Given the description of an element on the screen output the (x, y) to click on. 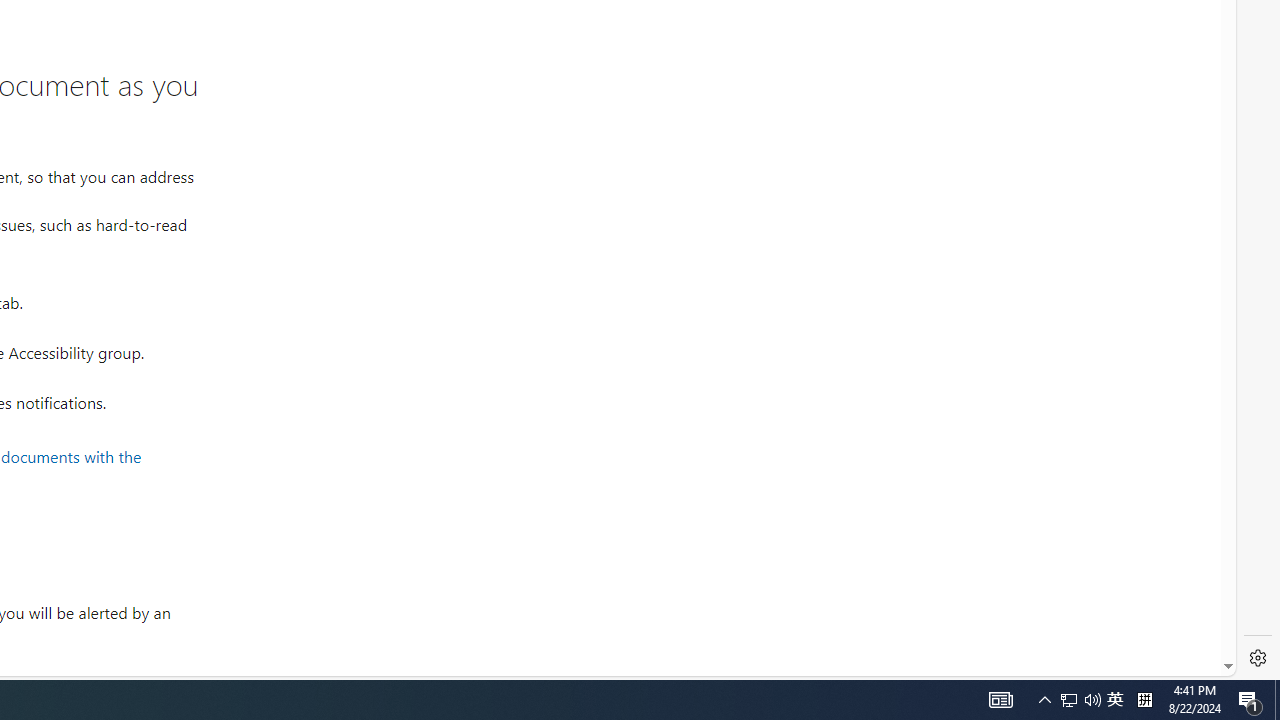
Settings (1258, 658)
